Given the description of an element on the screen output the (x, y) to click on. 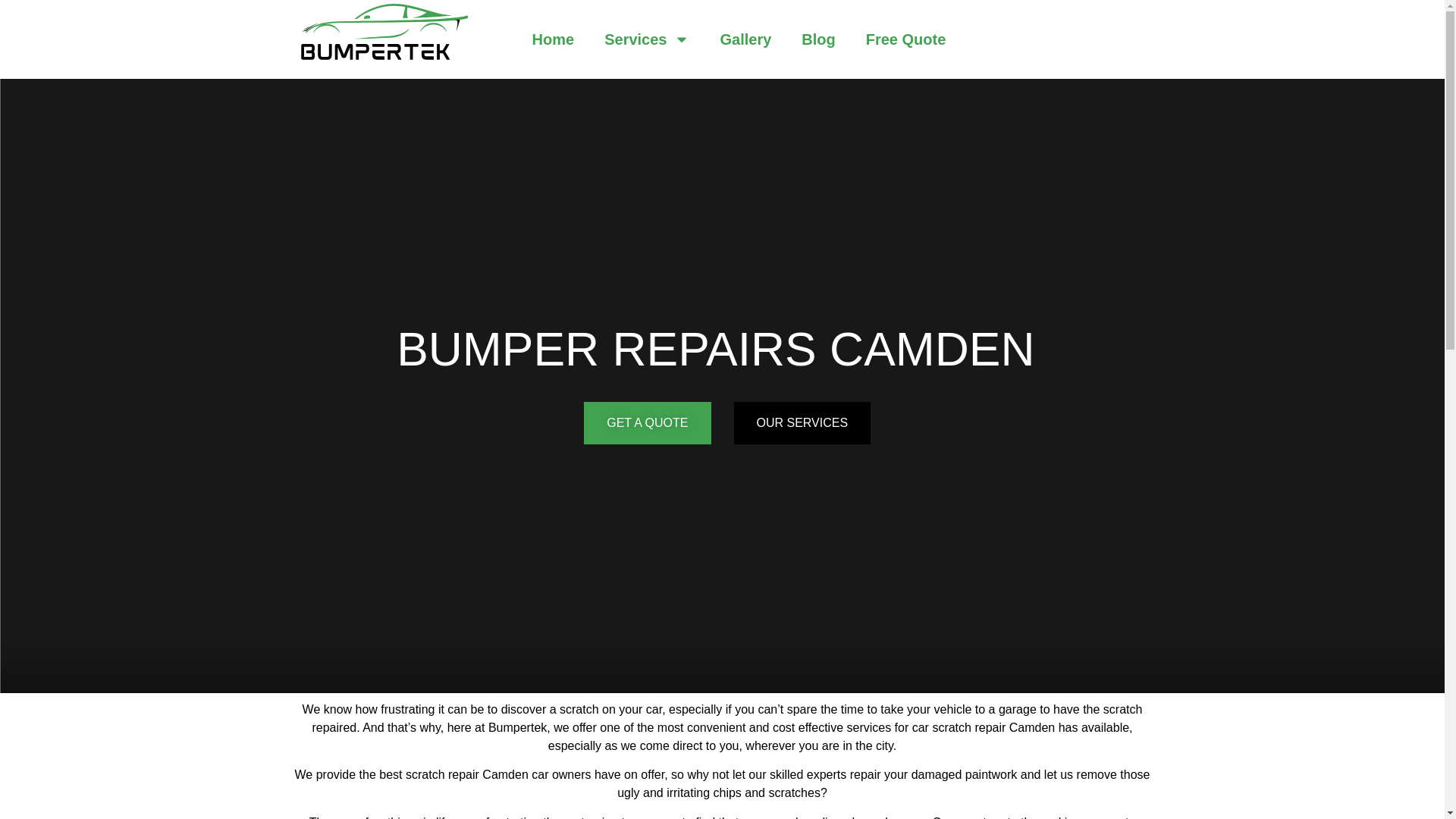
Services (646, 39)
Free Quote (905, 39)
Home (552, 39)
OUR SERVICES (801, 423)
Gallery (745, 39)
GET A QUOTE (646, 423)
Blog (818, 39)
